Given the description of an element on the screen output the (x, y) to click on. 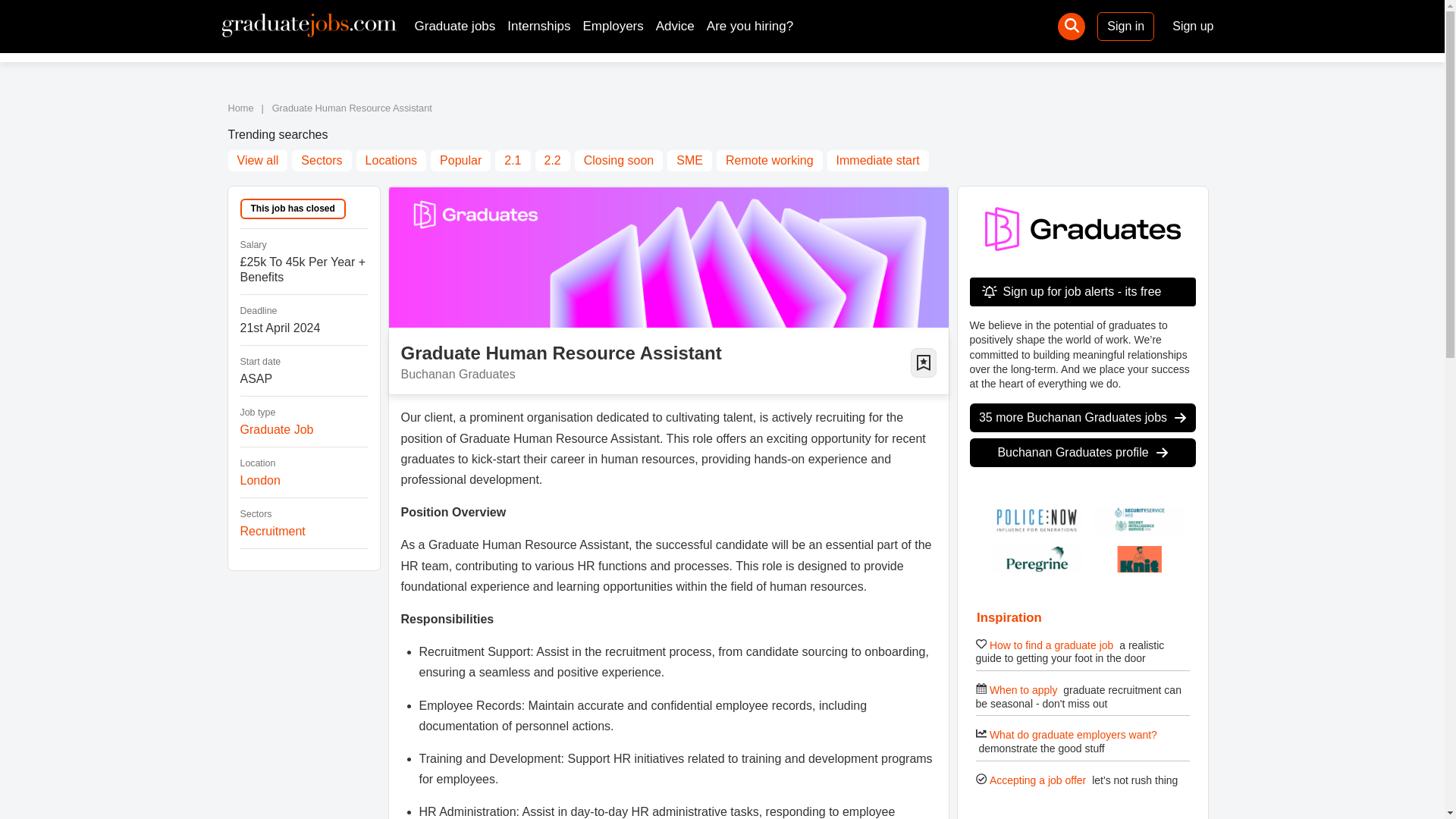
Employers (612, 25)
Sign up (1193, 26)
Internships (538, 25)
Graduate jobs (454, 25)
open search bar (1071, 26)
Advice (675, 25)
Are you hiring? (749, 25)
